Given the description of an element on the screen output the (x, y) to click on. 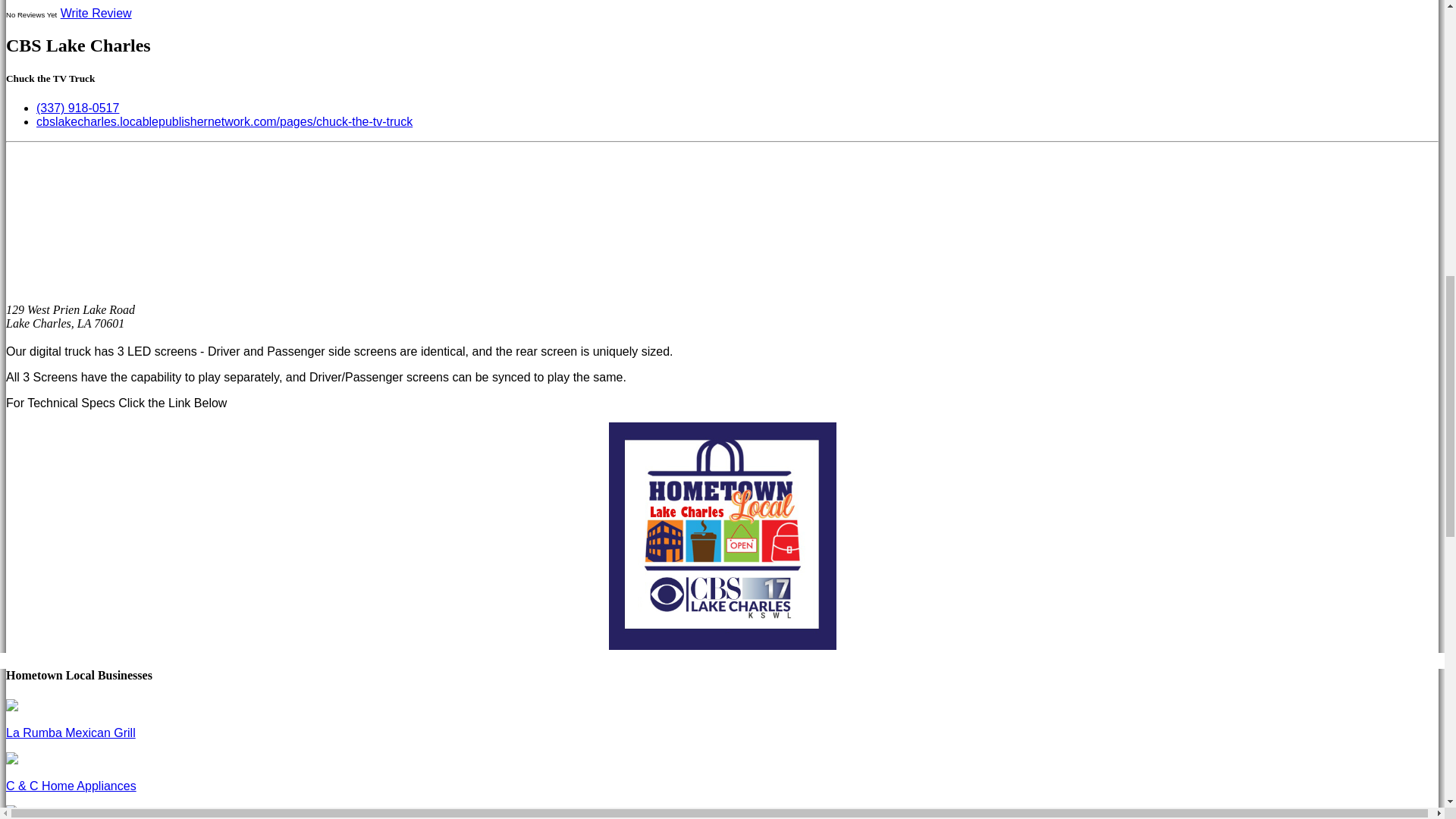
Untitled Advertisement (721, 537)
